Given the description of an element on the screen output the (x, y) to click on. 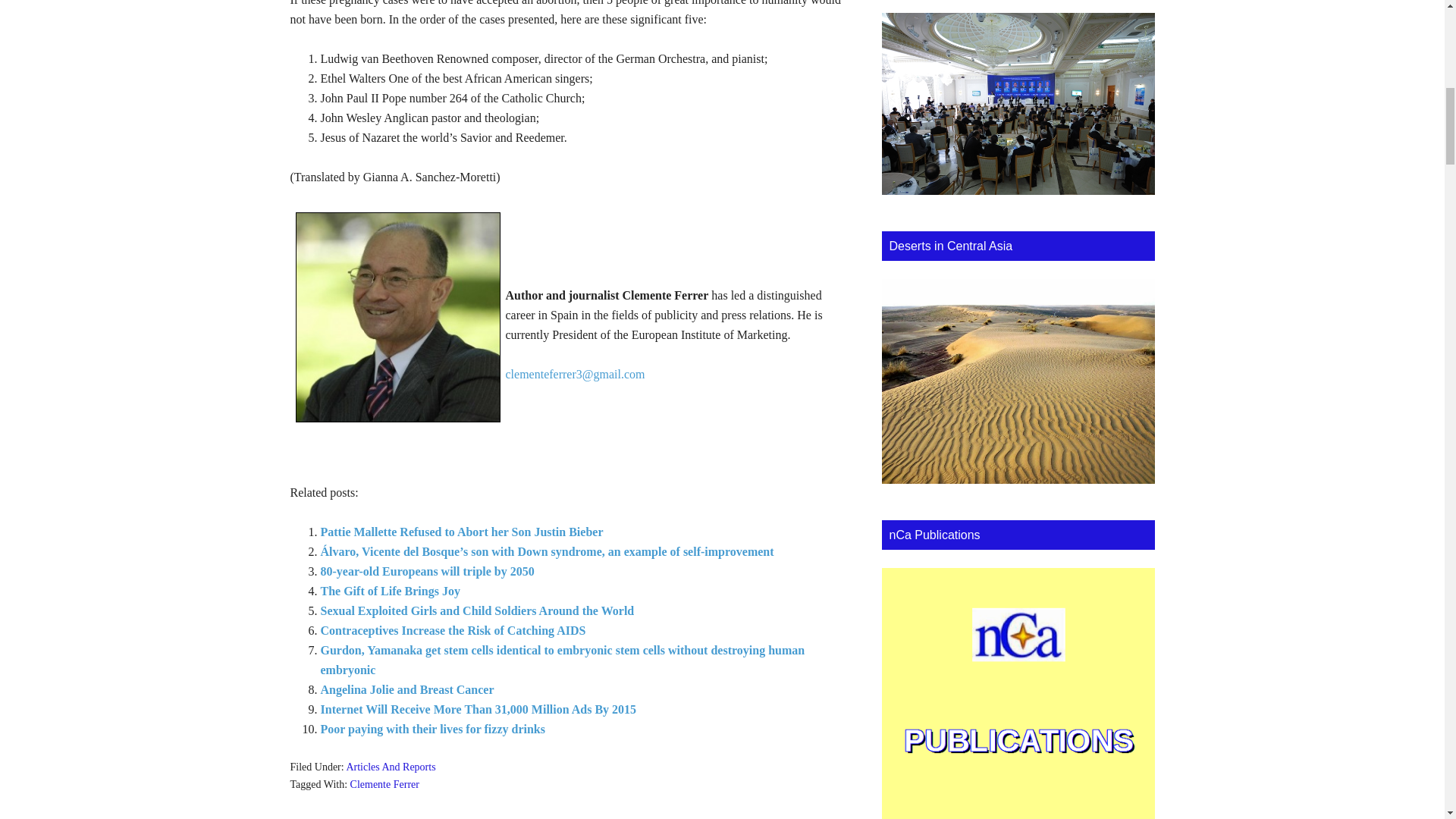
Internet Will Receive More Than 31,000 Million Ads By 2015 (478, 708)
Clemente Ferrer (384, 783)
ClementeFerrer (397, 317)
Angelina Jolie and Breast Cancer (406, 689)
Pattie Mallette Refused to Abort her Son Justin Bieber (461, 531)
Sexual Exploited Girls and Child Soldiers Around the World (476, 610)
Poor paying with their lives for fizzy drinks (432, 728)
80-year-old Europeans will triple by 2050 (427, 571)
Internet Will Receive More Than 31,000 Million Ads By 2015 (478, 708)
The Gift of Life Brings Joy (390, 590)
Contraceptives Increase the Risk of Catching AIDS (452, 630)
The Gift of Life Brings Joy (390, 590)
80-year-old Europeans will triple by 2050 (427, 571)
Contraceptives Increase the Risk of Catching AIDS (452, 630)
